Given the description of an element on the screen output the (x, y) to click on. 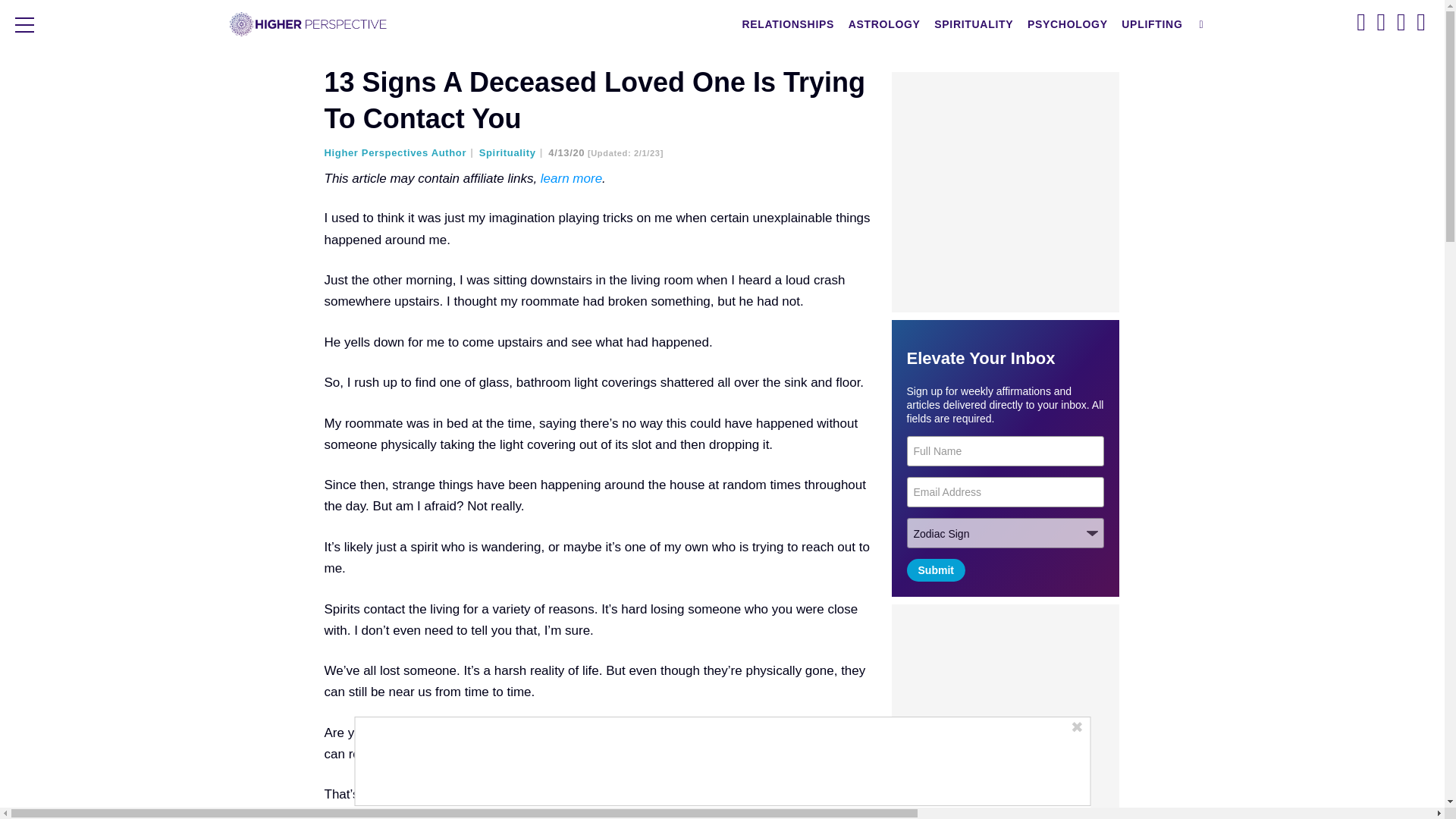
ASTROLOGY (884, 24)
Numerology (832, 732)
Higher Perspectives Author (400, 152)
SPIRITUALITY (972, 24)
learn more (571, 178)
UPLIFTING (1152, 24)
PSYCHOLOGY (1067, 24)
Posts by Higher Perspectives Author (400, 152)
Spirituality (511, 152)
RELATIONSHIPS (788, 24)
